Given the description of an element on the screen output the (x, y) to click on. 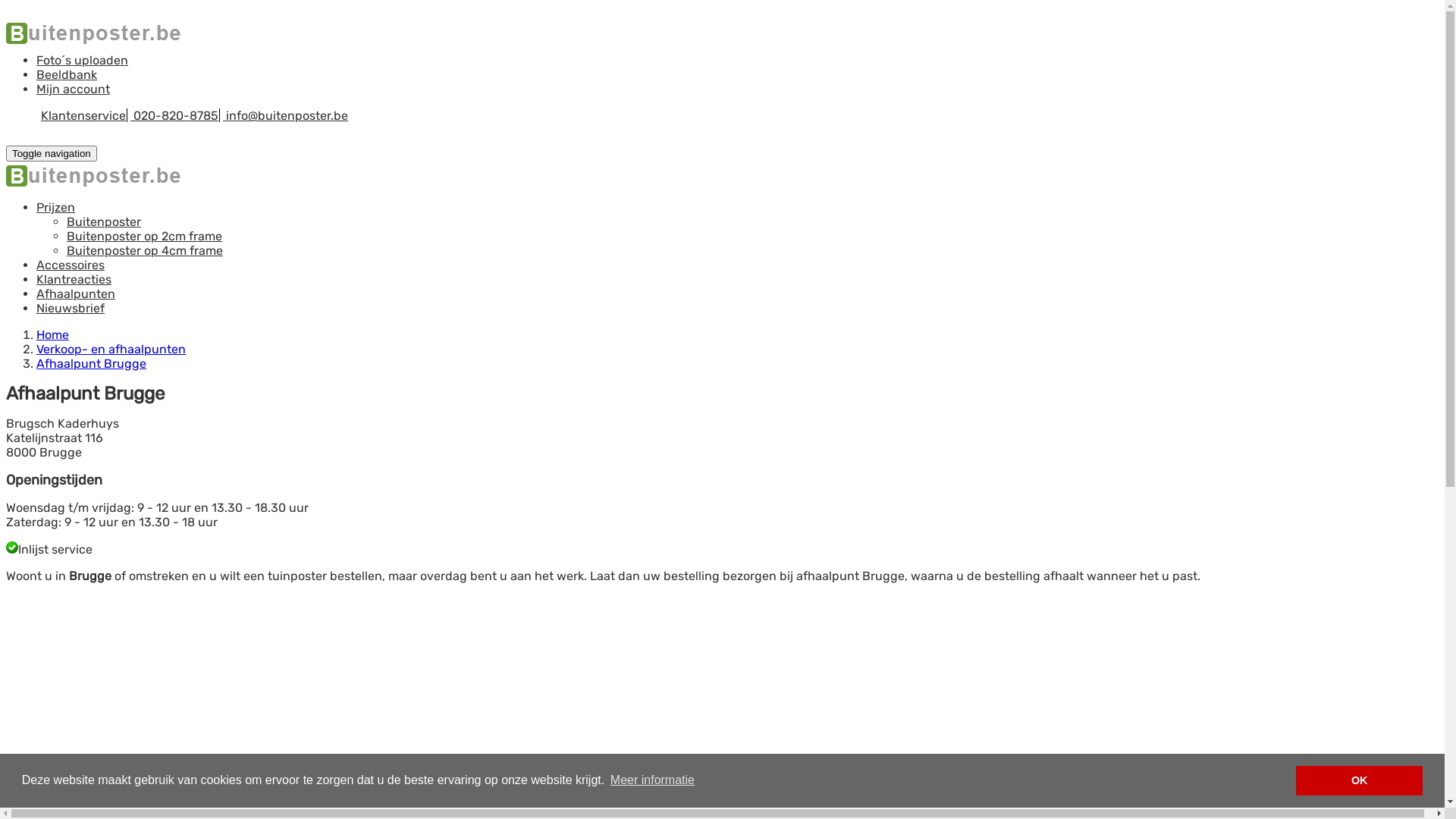
Afhaalpunt Brugge Element type: text (91, 363)
Afhaalpunten Element type: text (75, 293)
Buitenposter Element type: text (103, 221)
Home Element type: text (52, 334)
Klantreacties Element type: text (73, 279)
Buitenposter op 2cm frame Element type: text (144, 236)
Prijzen Element type: text (55, 207)
Buitenposter op 4cm frame Element type: text (144, 250)
Nieuwsbrief Element type: text (70, 308)
Accessoires Element type: text (70, 264)
Mijn account Element type: text (72, 88)
Toggle navigation Element type: text (51, 153)
Meer informatie Element type: text (652, 779)
info@buitenposter.be Element type: text (285, 115)
020-820-8785 Element type: text (174, 115)
OK Element type: text (1358, 780)
Verkoop- en afhaalpunten Element type: text (110, 349)
Beeldbank Element type: text (66, 74)
Klantenservice Element type: text (82, 115)
